Given the description of an element on the screen output the (x, y) to click on. 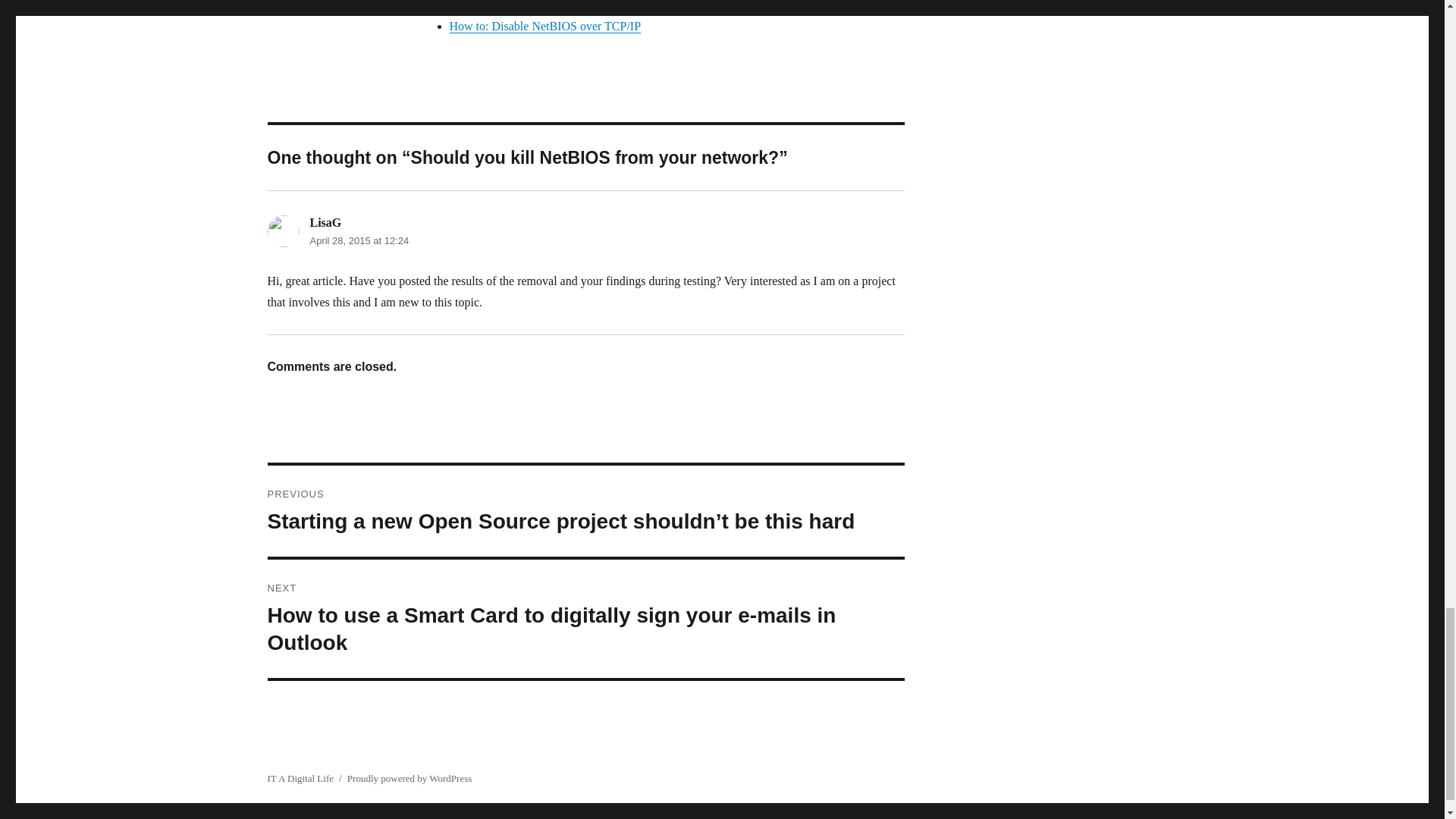
April 28, 2015 at 12:24 (358, 240)
Understanding NetBIOS and Windows Server 2003 (574, 5)
